Given the description of an element on the screen output the (x, y) to click on. 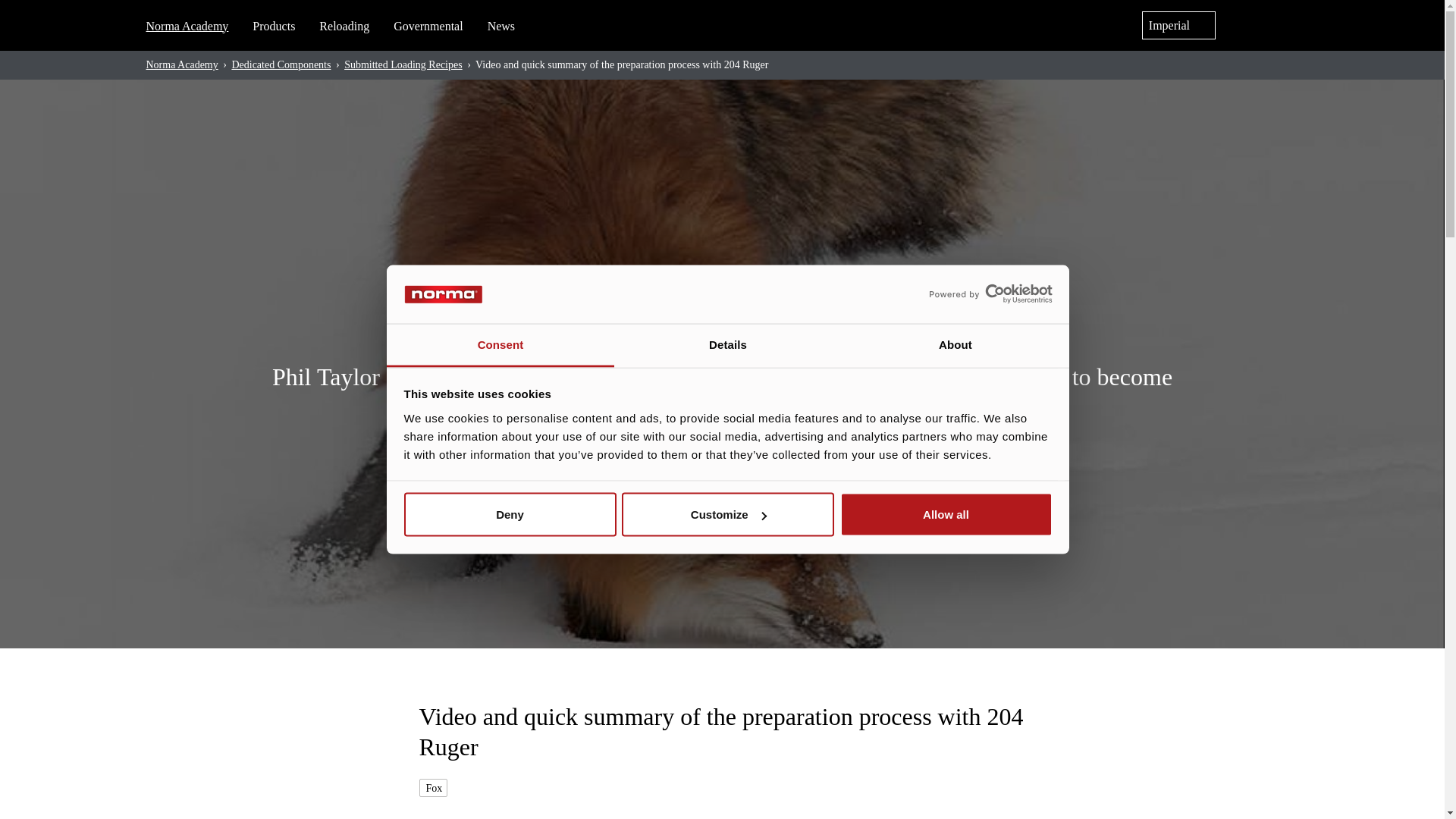
Consent (500, 344)
About (954, 344)
Details (727, 344)
